Given the description of an element on the screen output the (x, y) to click on. 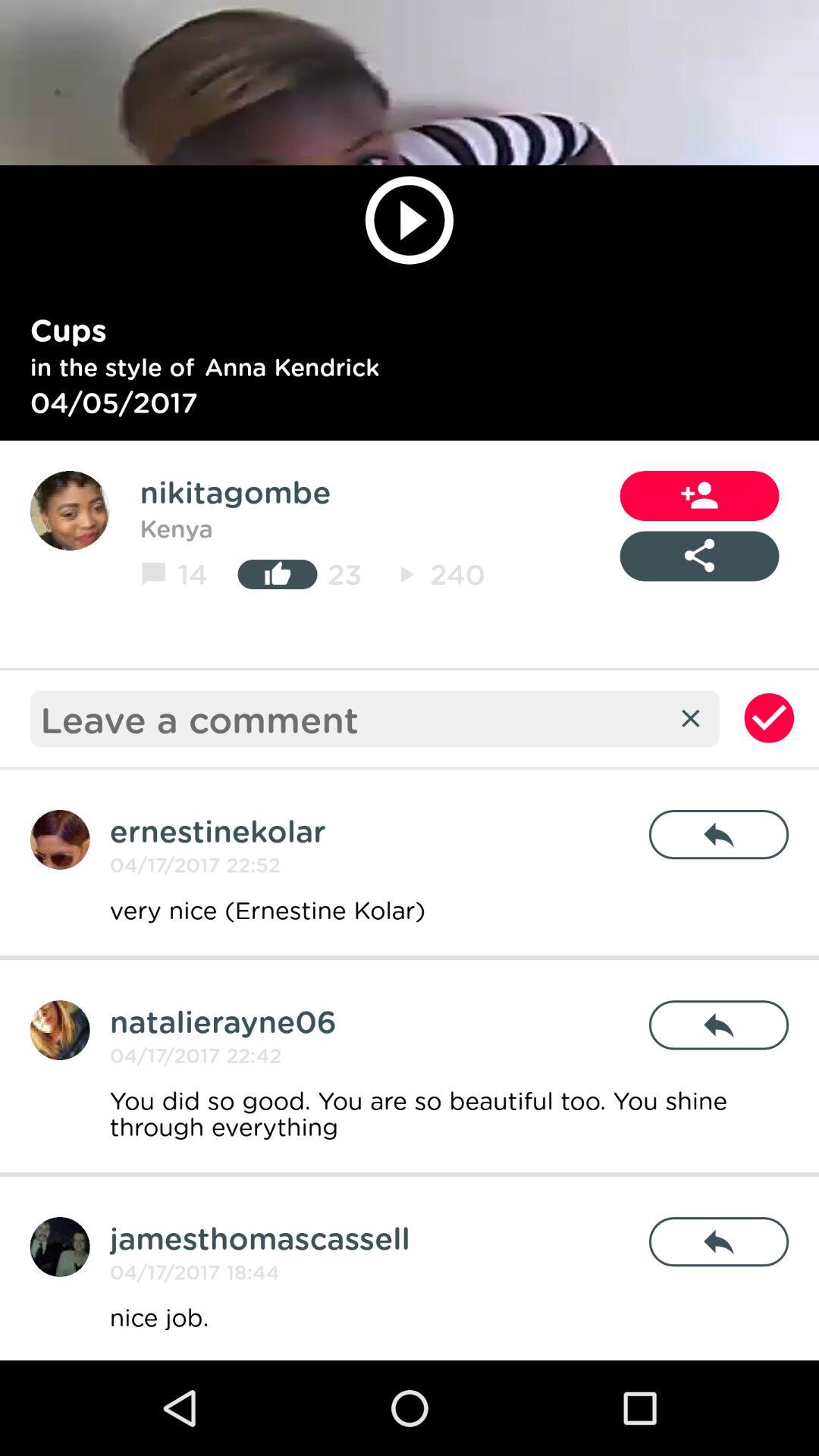
go to the name option (59, 1246)
